Given the description of an element on the screen output the (x, y) to click on. 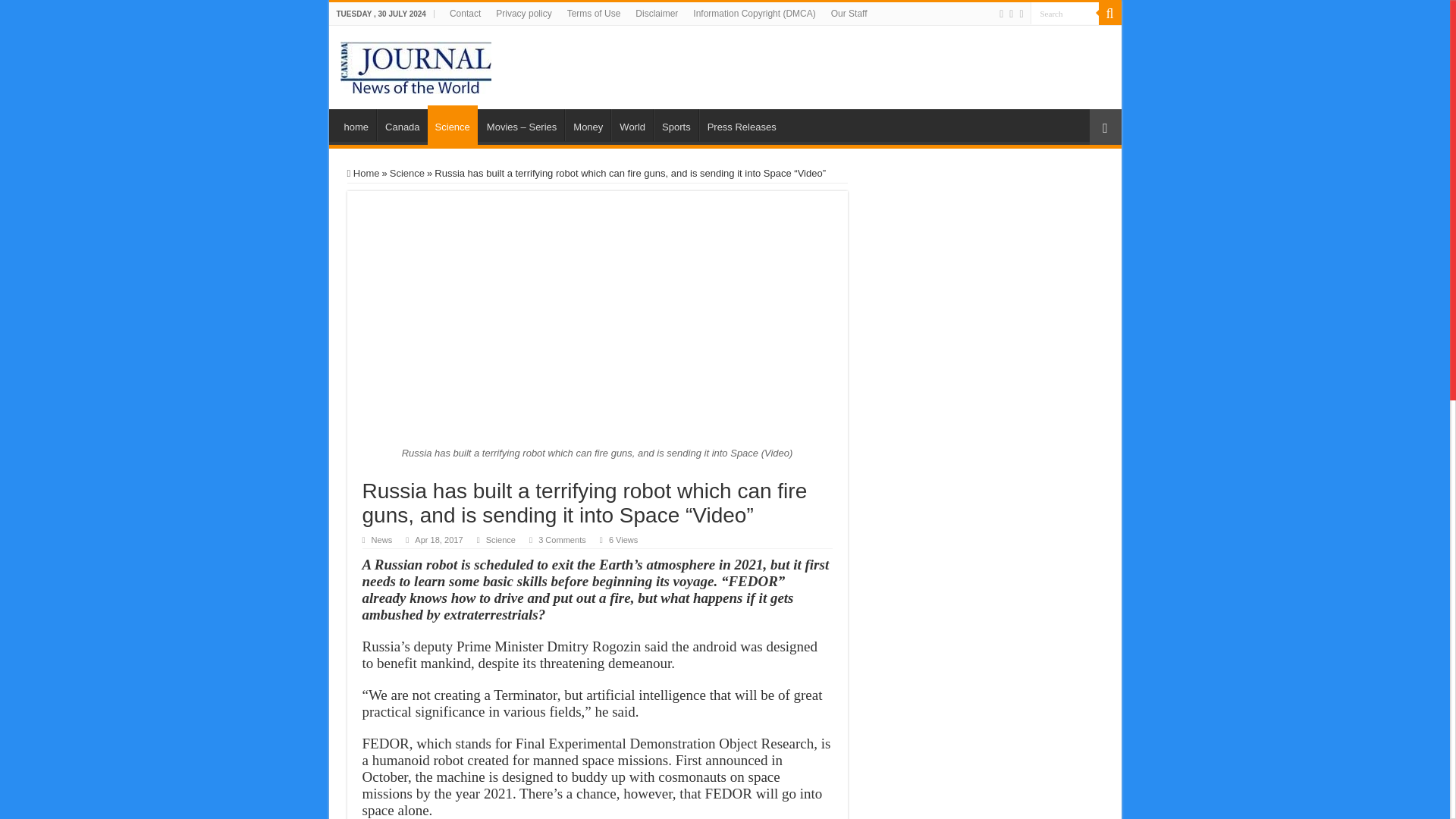
News (382, 539)
World (631, 124)
Search (1109, 13)
Science (500, 539)
3 Comments (562, 539)
Search (1063, 13)
Science (407, 173)
Random Article (1105, 126)
Money (587, 124)
Sports (675, 124)
Search (1063, 13)
Canada (402, 124)
Terms of Use (593, 13)
home (356, 124)
Science (452, 124)
